Given the description of an element on the screen output the (x, y) to click on. 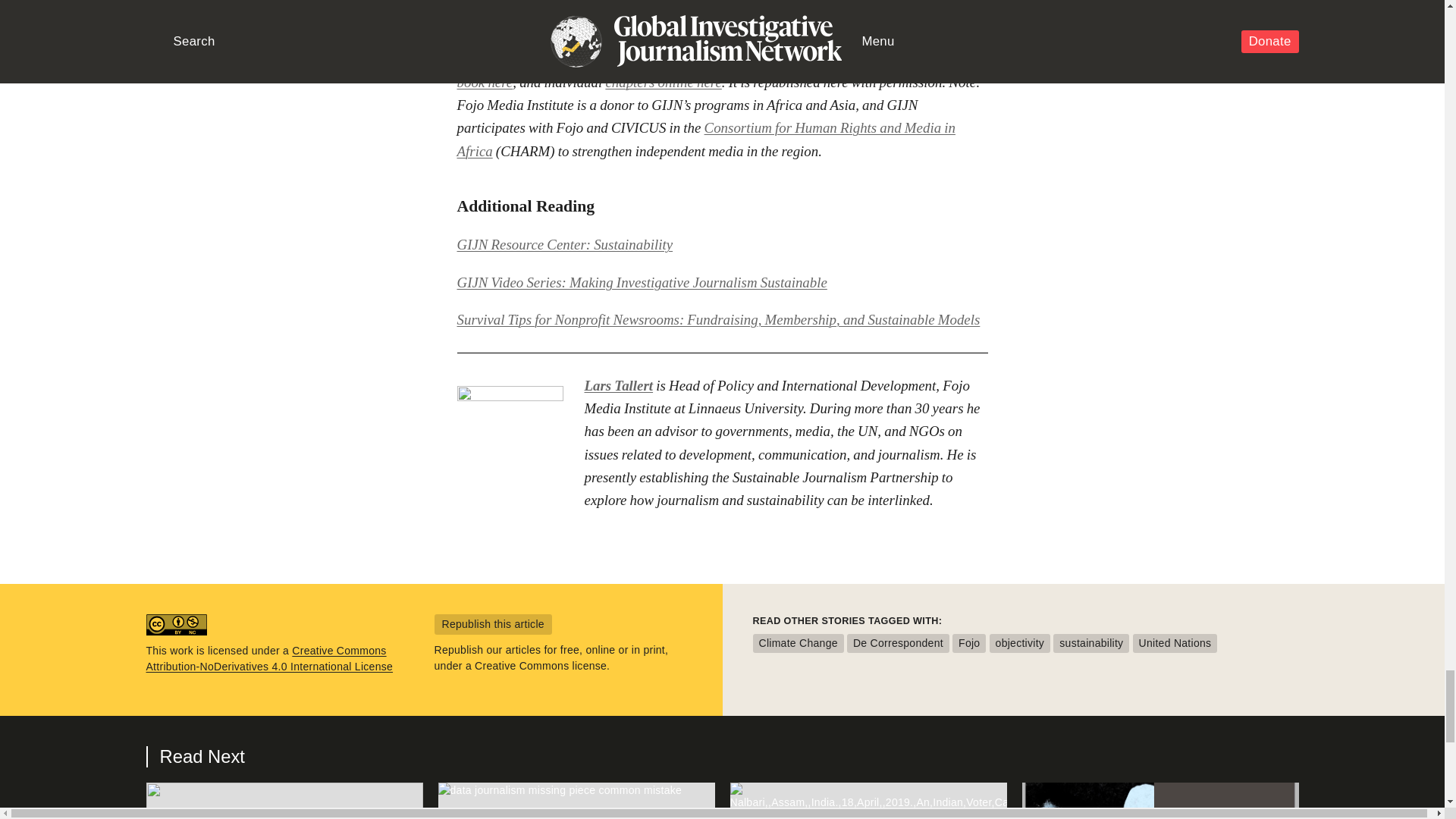
Read other stories tagged with Climate Change (797, 642)
Read other stories tagged with Fojo (968, 642)
Read other stories tagged with sustainability (1090, 642)
Read other stories tagged with objectivity (1020, 642)
Read other stories tagged with United Nations (1174, 642)
Read other stories tagged with De Correspondent (898, 642)
